Given the description of an element on the screen output the (x, y) to click on. 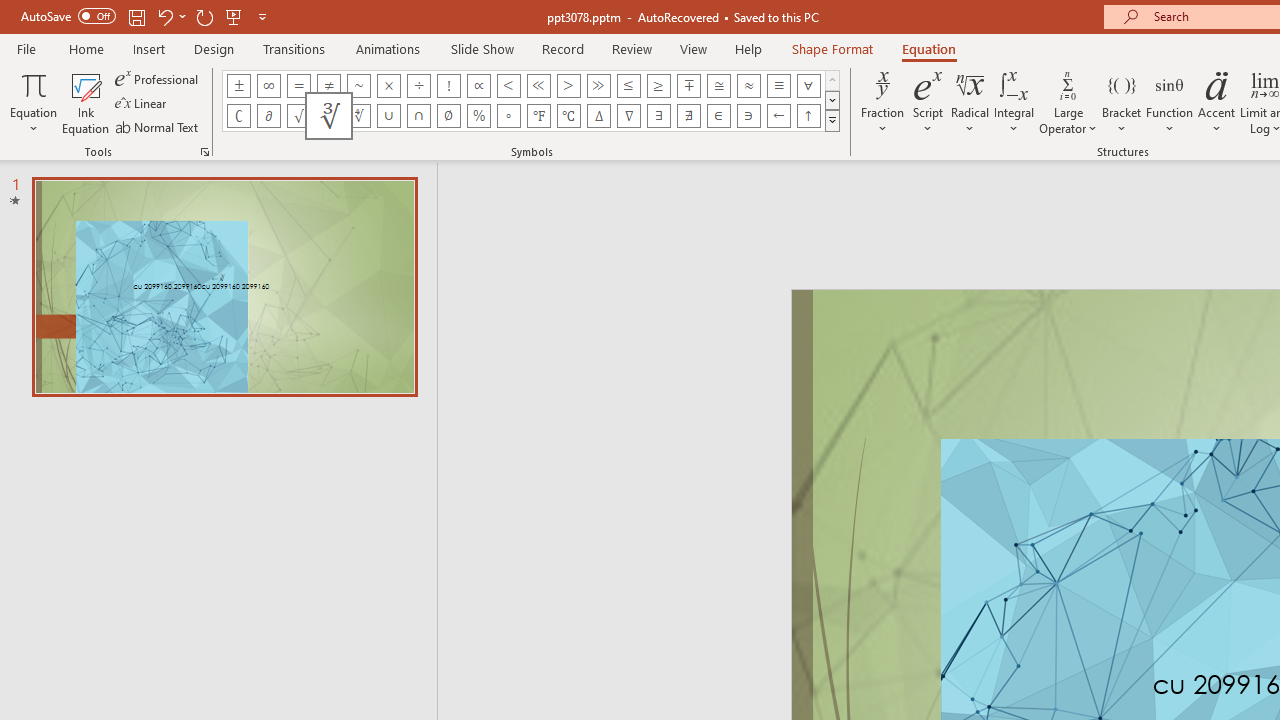
Equation Symbol Multiplication Sign (388, 85)
Equation Symbol Minus Plus (689, 85)
Equation (928, 48)
Bracket (1121, 102)
Equation Symbol Approximately Equal To (718, 85)
Equation Options... (204, 151)
Equation Symbol Not Equal To (328, 85)
Equation Symbol Cube Root (328, 115)
Equation Symbol Intersection (418, 115)
